Given the description of an element on the screen output the (x, y) to click on. 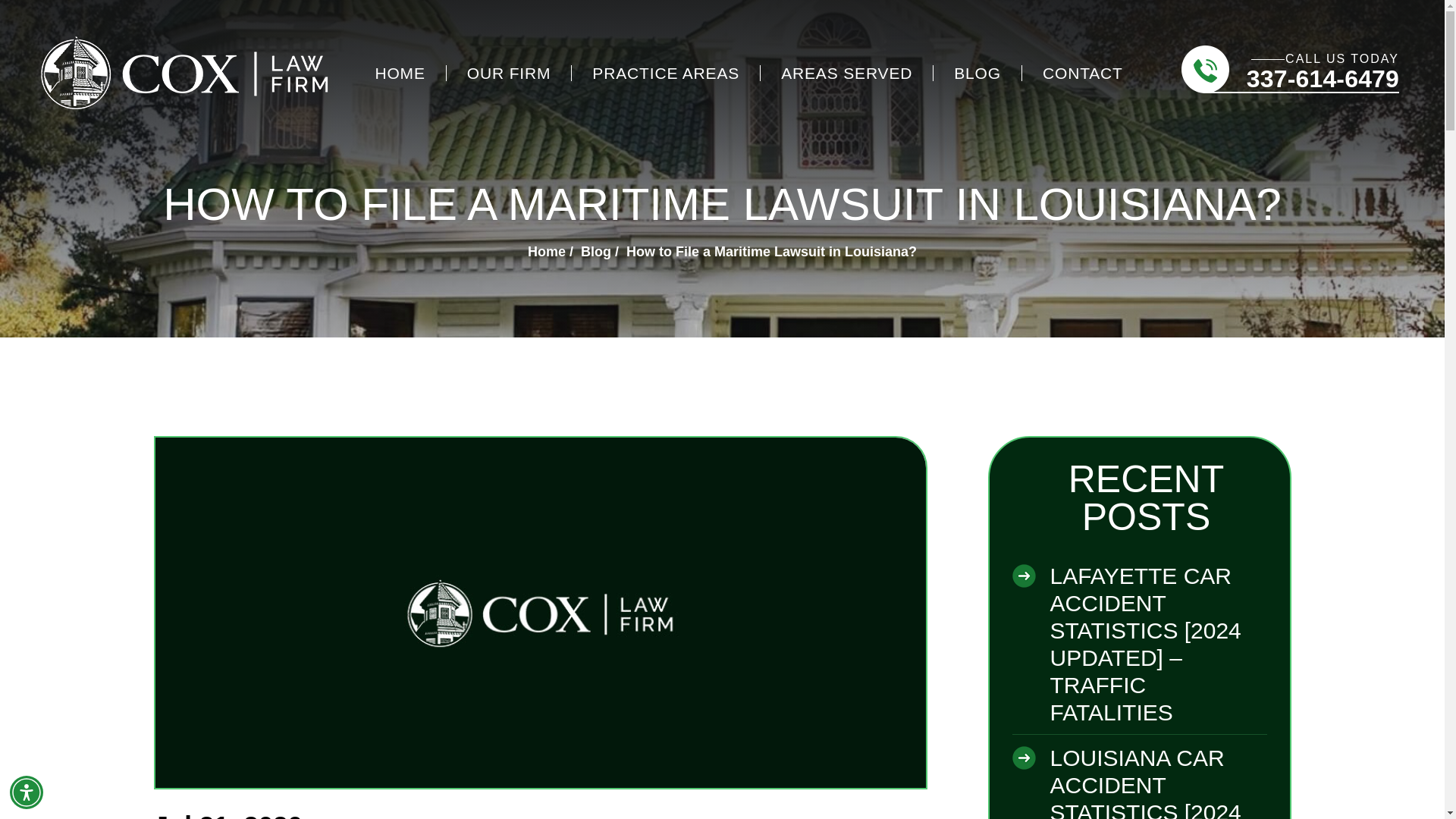
Accessibility Menu (26, 792)
PRACTICE AREAS (665, 72)
OUR FIRM (509, 72)
HOME (399, 72)
